Given the description of an element on the screen output the (x, y) to click on. 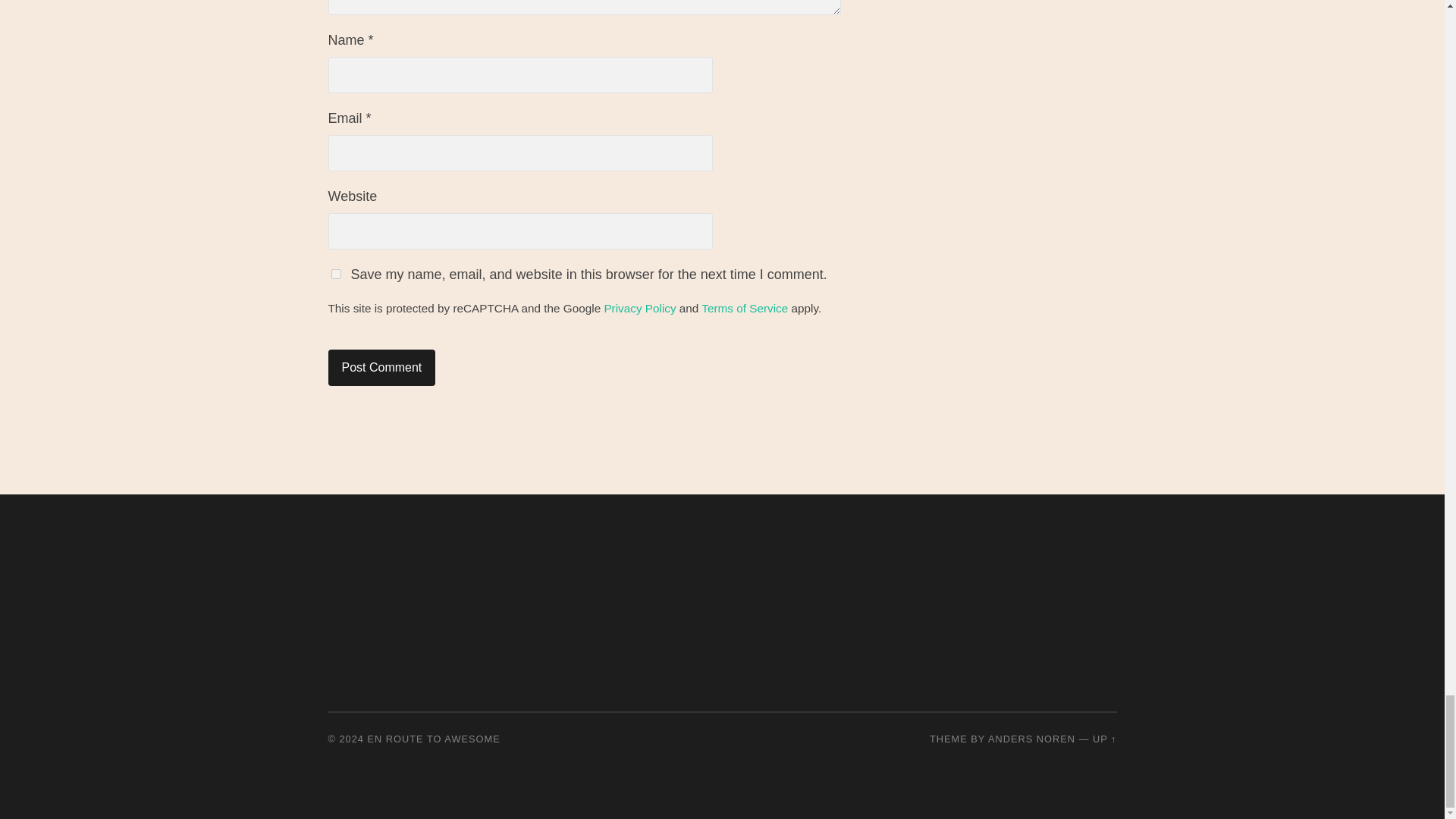
Post Comment (381, 367)
To the top (1104, 738)
yes (335, 274)
